Given the description of an element on the screen output the (x, y) to click on. 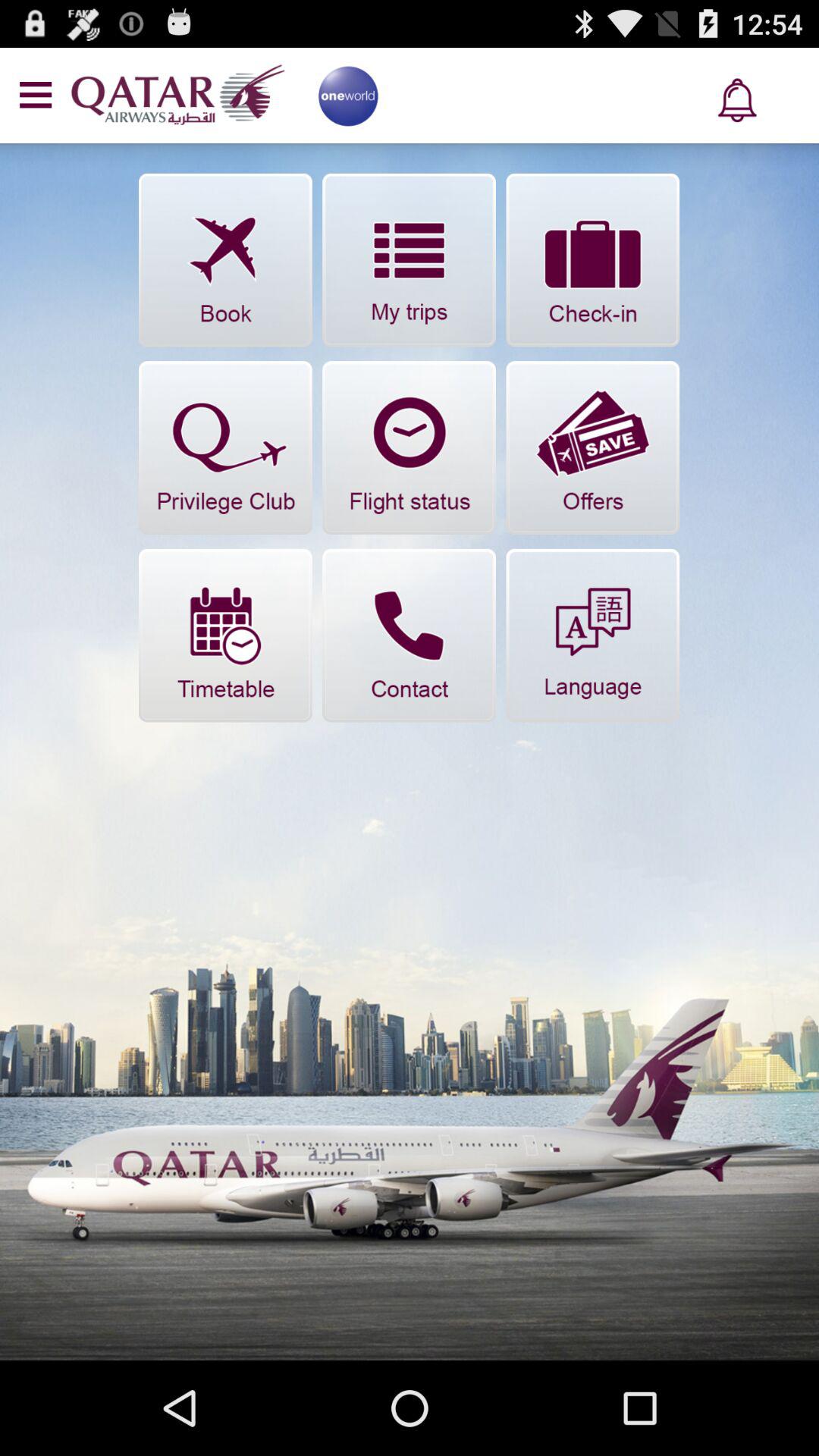
offers (592, 447)
